Given the description of an element on the screen output the (x, y) to click on. 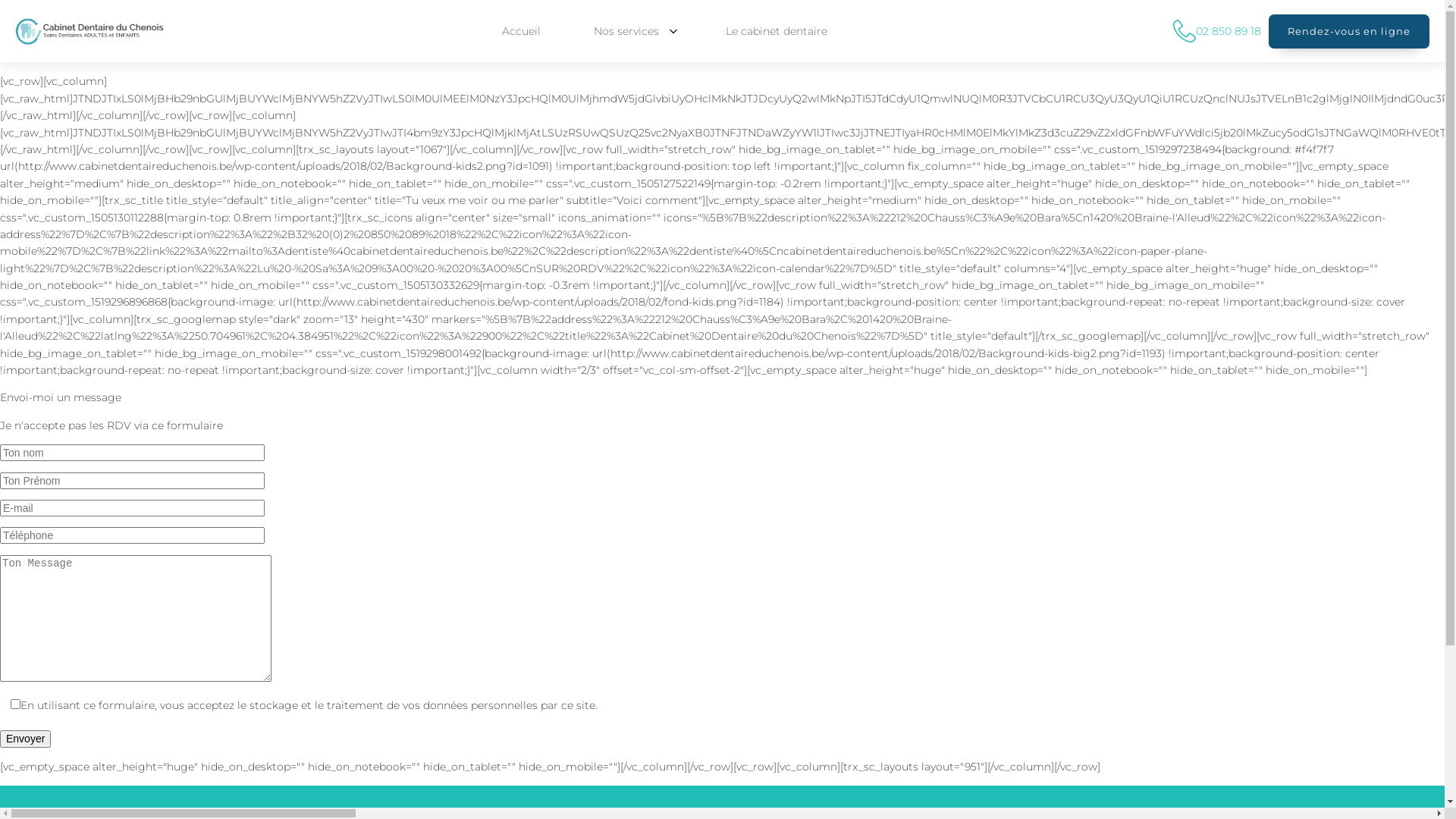
Rendez-vous en ligne Element type: text (1348, 31)
Accueil Element type: text (525, 30)
Le cabinet dentaire Element type: text (779, 30)
Envoyer Element type: text (25, 738)
02 850 89 18 Element type: text (1217, 30)
